Given the description of an element on the screen output the (x, y) to click on. 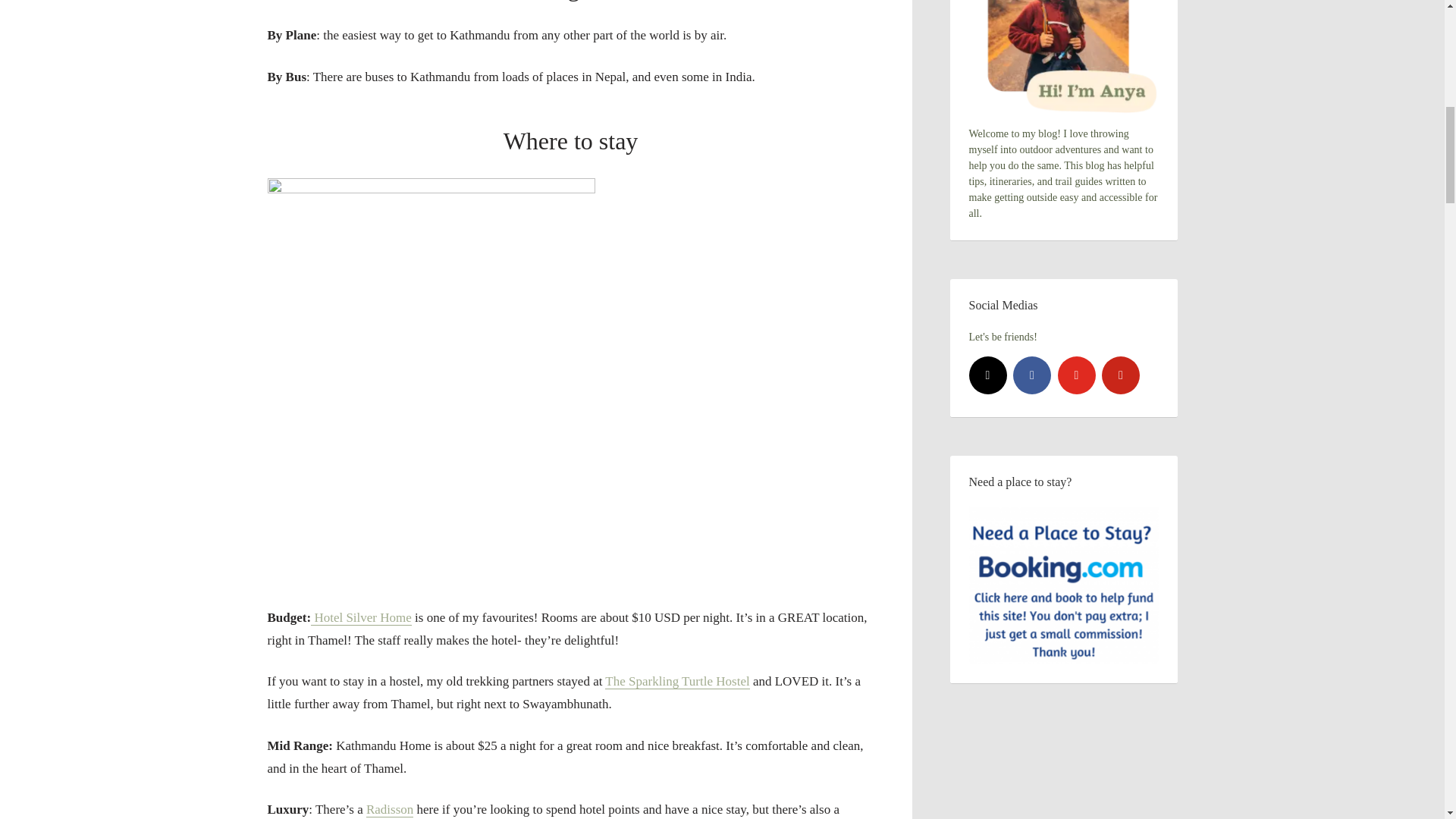
Pinterest (1121, 374)
YouTube (1075, 374)
Instagram (988, 374)
Facebook (1032, 374)
